Given the description of an element on the screen output the (x, y) to click on. 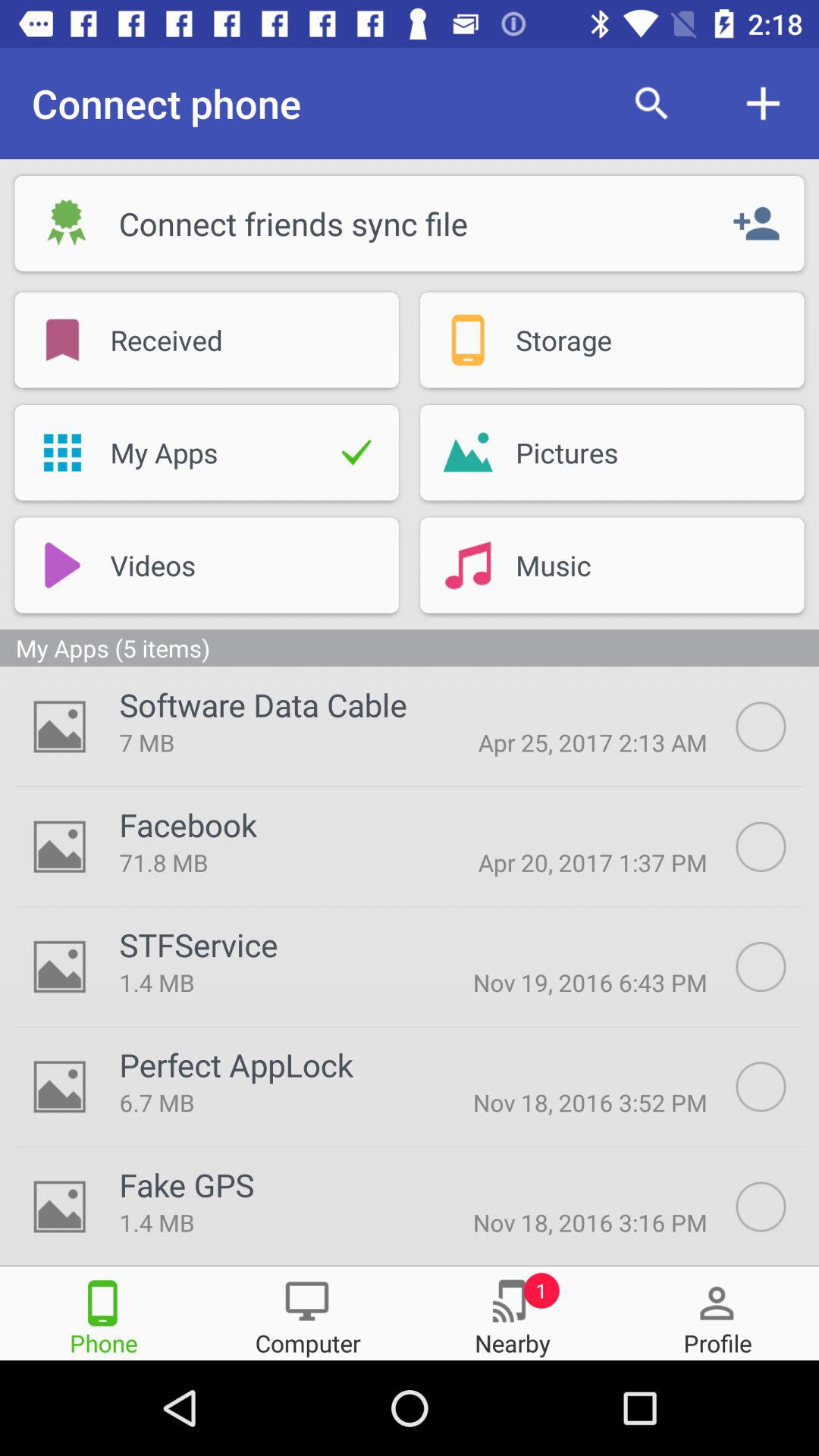
click the item next to videos icon (62, 565)
